Given the description of an element on the screen output the (x, y) to click on. 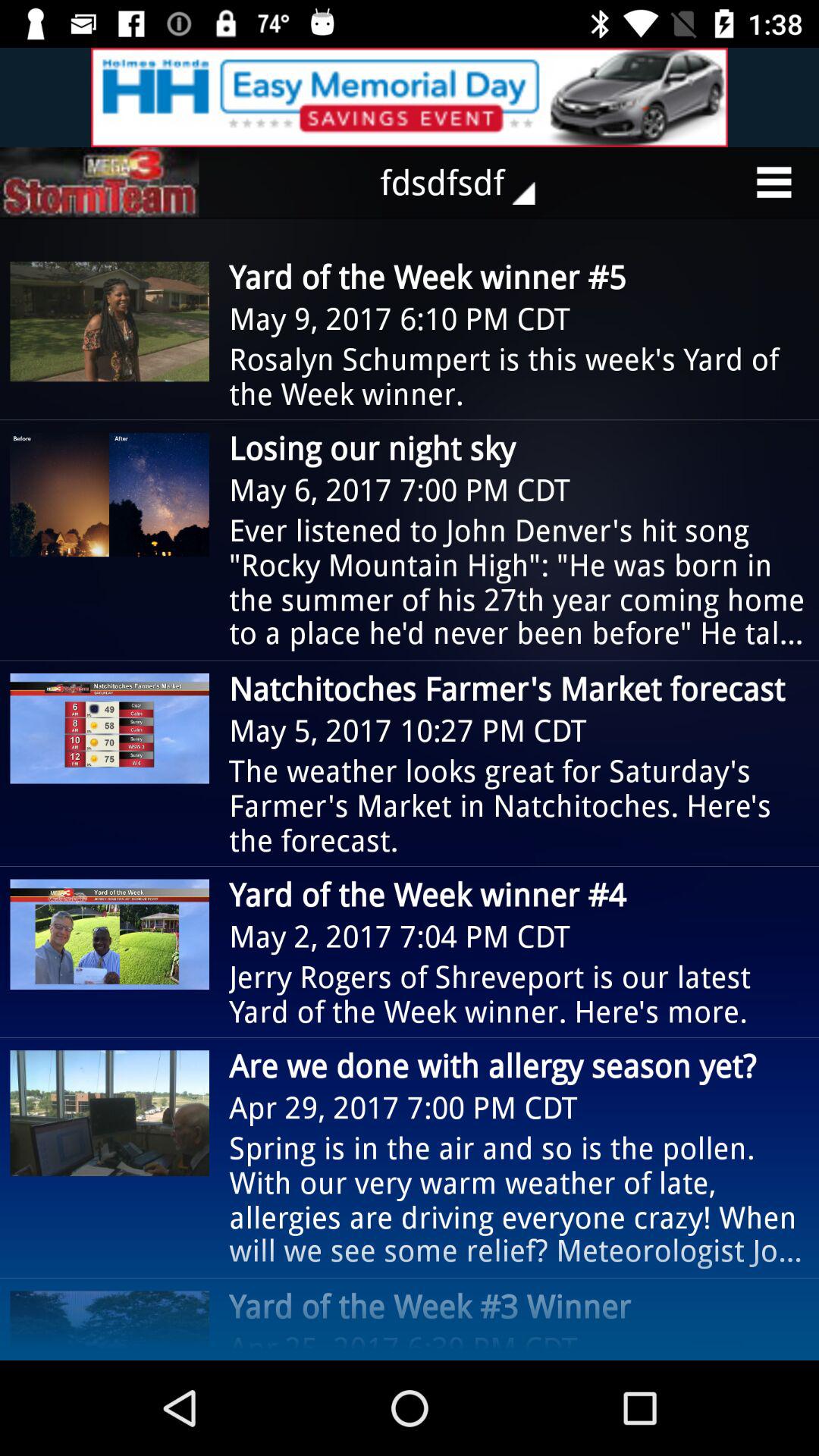
tap item to the left of fdsdfsdf icon (99, 182)
